Given the description of an element on the screen output the (x, y) to click on. 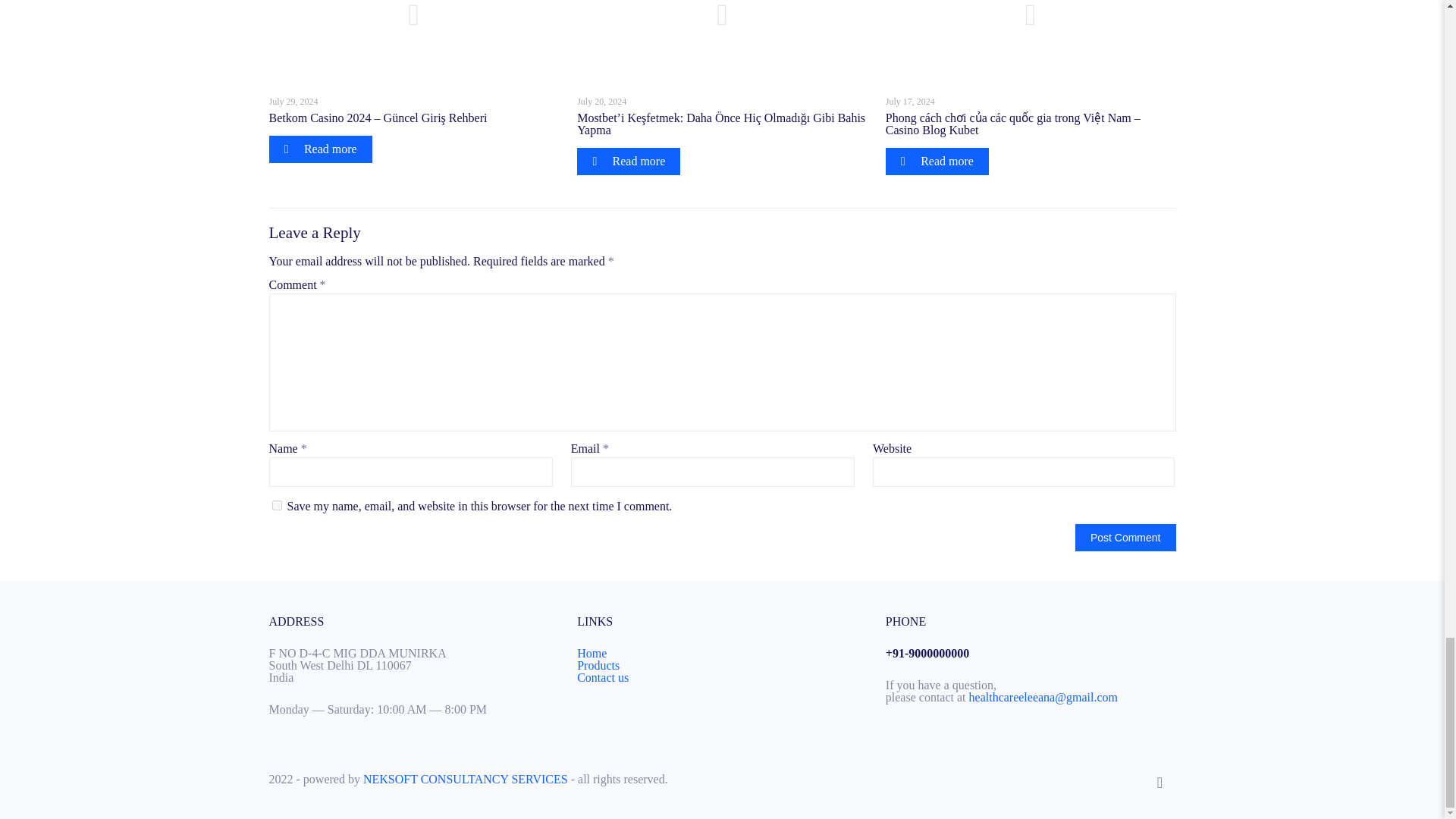
Instagram (1121, 779)
Post Comment (1125, 537)
Twitter (1100, 779)
yes (275, 505)
Facebook (1079, 779)
